Given the description of an element on the screen output the (x, y) to click on. 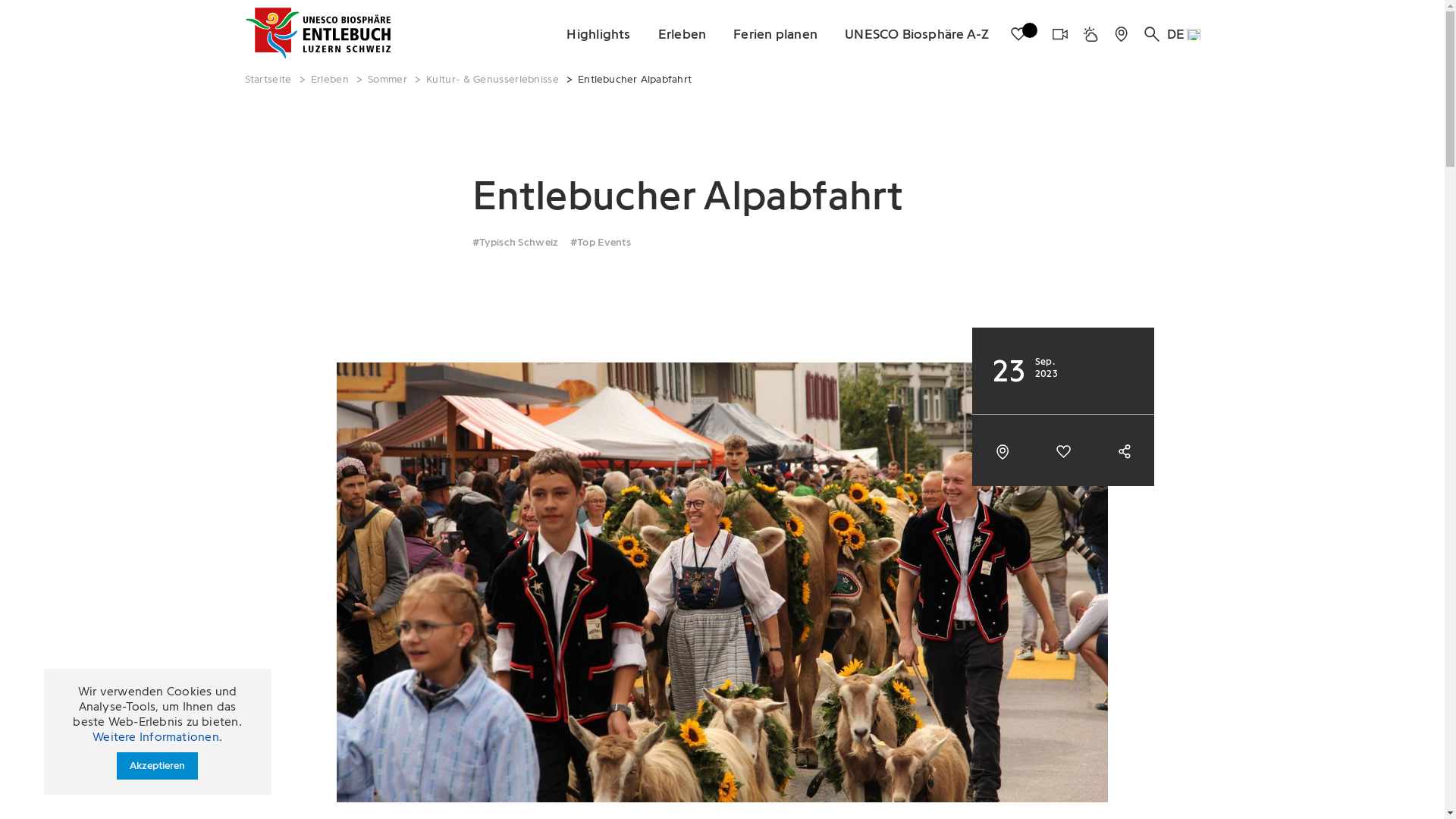
Highlights Element type: text (597, 33)
Typisch Schweiz Element type: text (517, 241)
Sommer Element type: text (387, 78)
Top Events Element type: text (602, 241)
Ferien planen Element type: text (775, 33)
Search Element type: hover (1151, 33)
Weitere Informationen. Element type: text (157, 736)
Favoriten Element type: hover (1023, 33)
Wetter Element type: hover (1090, 33)
Erlebniskarte Element type: hover (1120, 33)
Akzeptieren Element type: text (156, 765)
Kultur- & Genusserlebnisse Element type: text (492, 78)
Erleben Element type: text (682, 33)
Startseite Element type: text (267, 78)
Erleben Element type: text (329, 78)
Webcams Element type: hover (1059, 33)
